Given the description of an element on the screen output the (x, y) to click on. 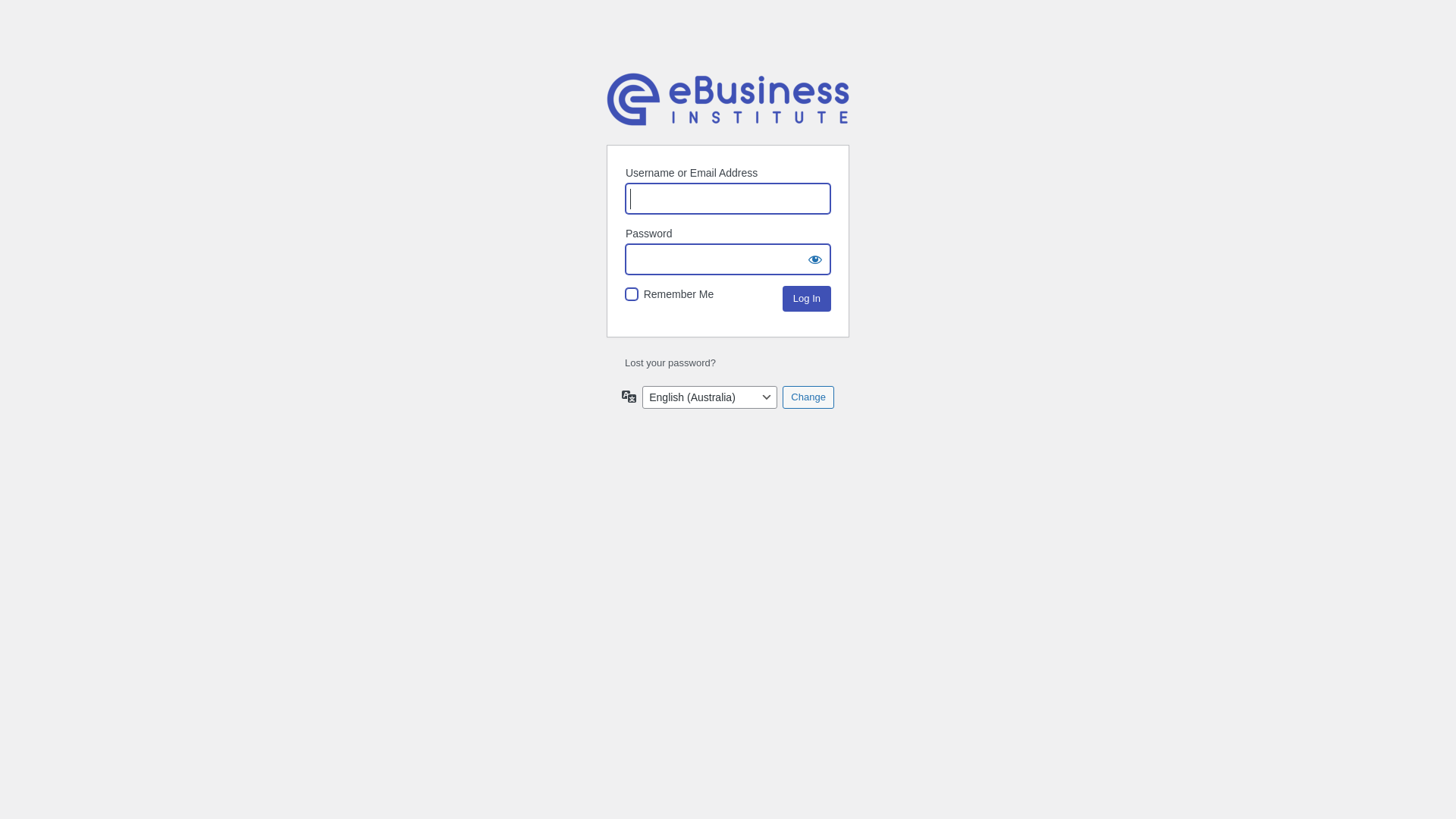
Lost your password? Element type: text (669, 362)
Powered by WordPress Element type: text (727, 98)
Log In Element type: text (806, 298)
Change Element type: text (808, 396)
